Given the description of an element on the screen output the (x, y) to click on. 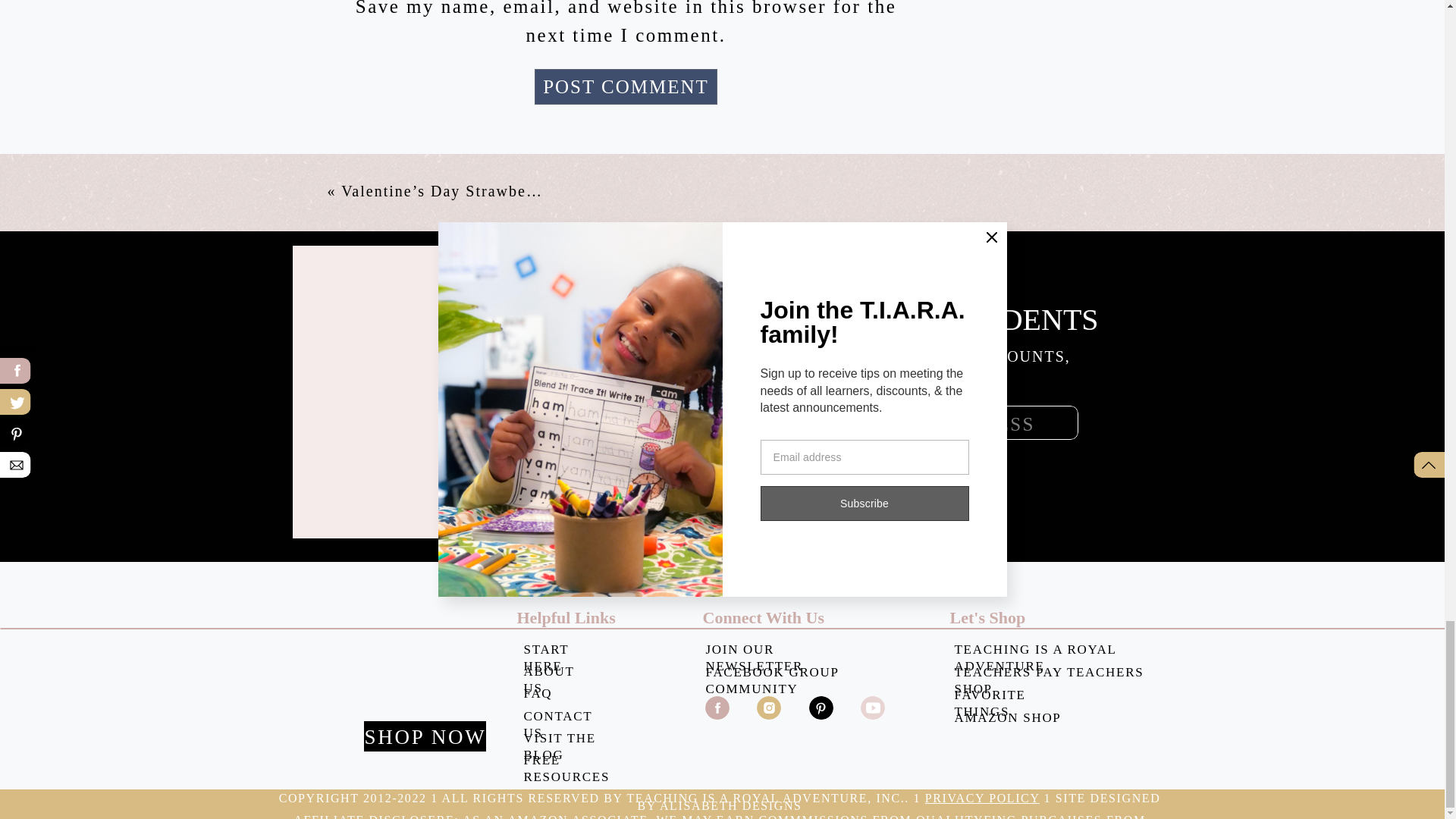
Post Comment (625, 86)
